Given the description of an element on the screen output the (x, y) to click on. 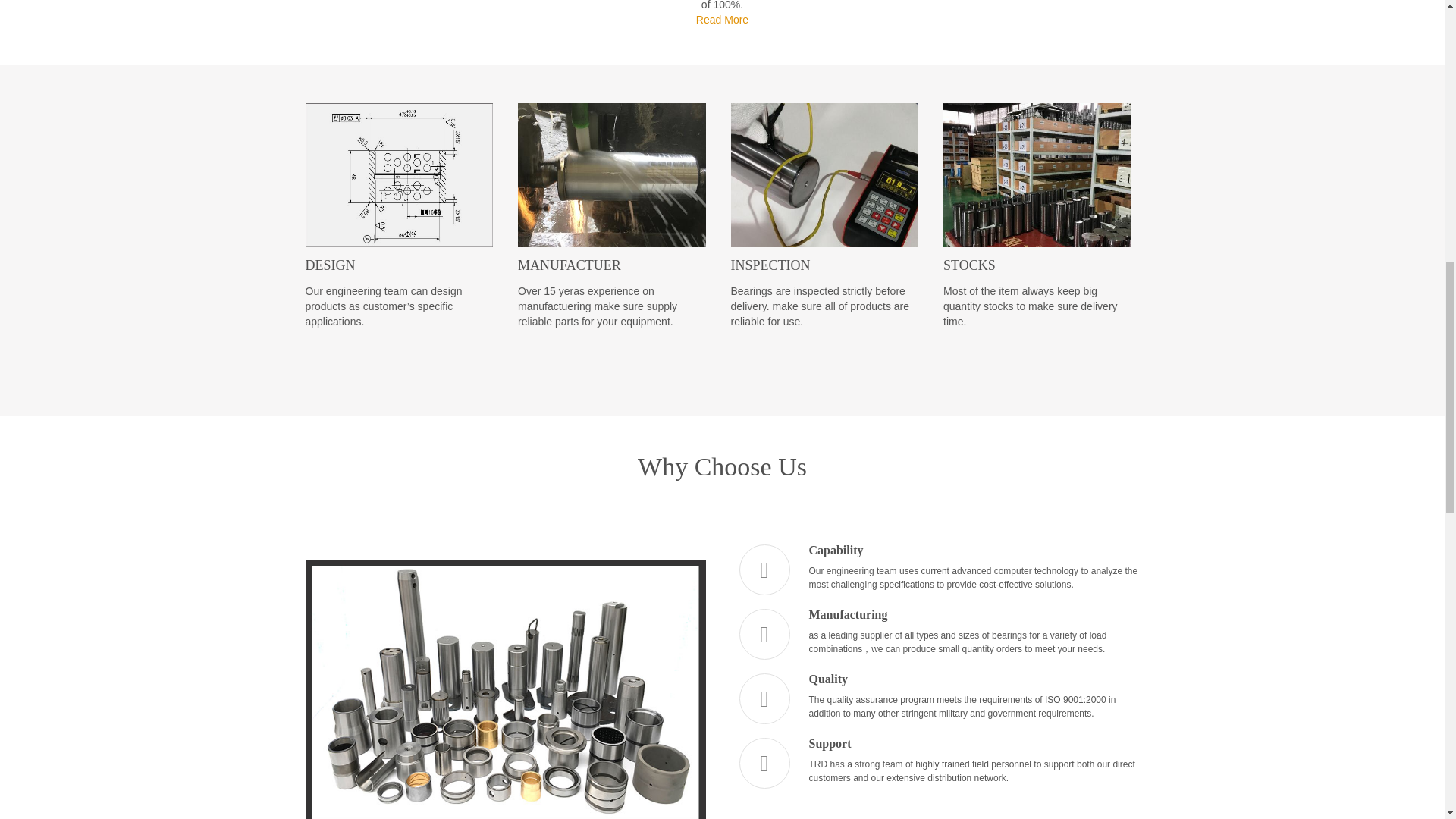
INSPECTION (824, 264)
MANUFACTUER (612, 264)
STOCKS (1037, 264)
DESIGN (398, 264)
Read More (721, 19)
